Given the description of an element on the screen output the (x, y) to click on. 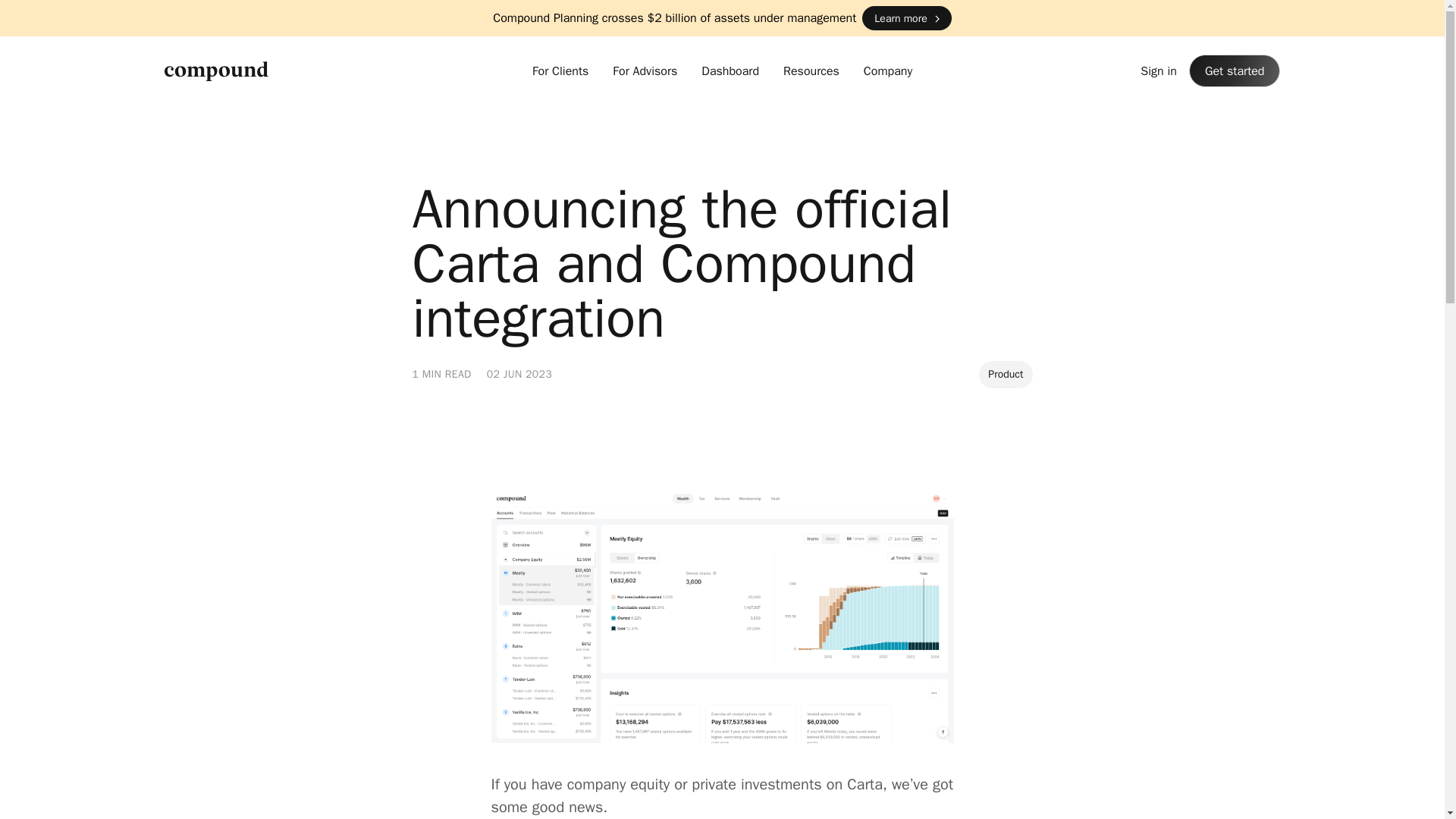
For Advisors (644, 71)
Dashboard (729, 71)
Sign in (1158, 70)
Get started (1235, 70)
For Clients (560, 71)
Learn more (905, 17)
Resources (811, 71)
Company (887, 71)
